Given the description of an element on the screen output the (x, y) to click on. 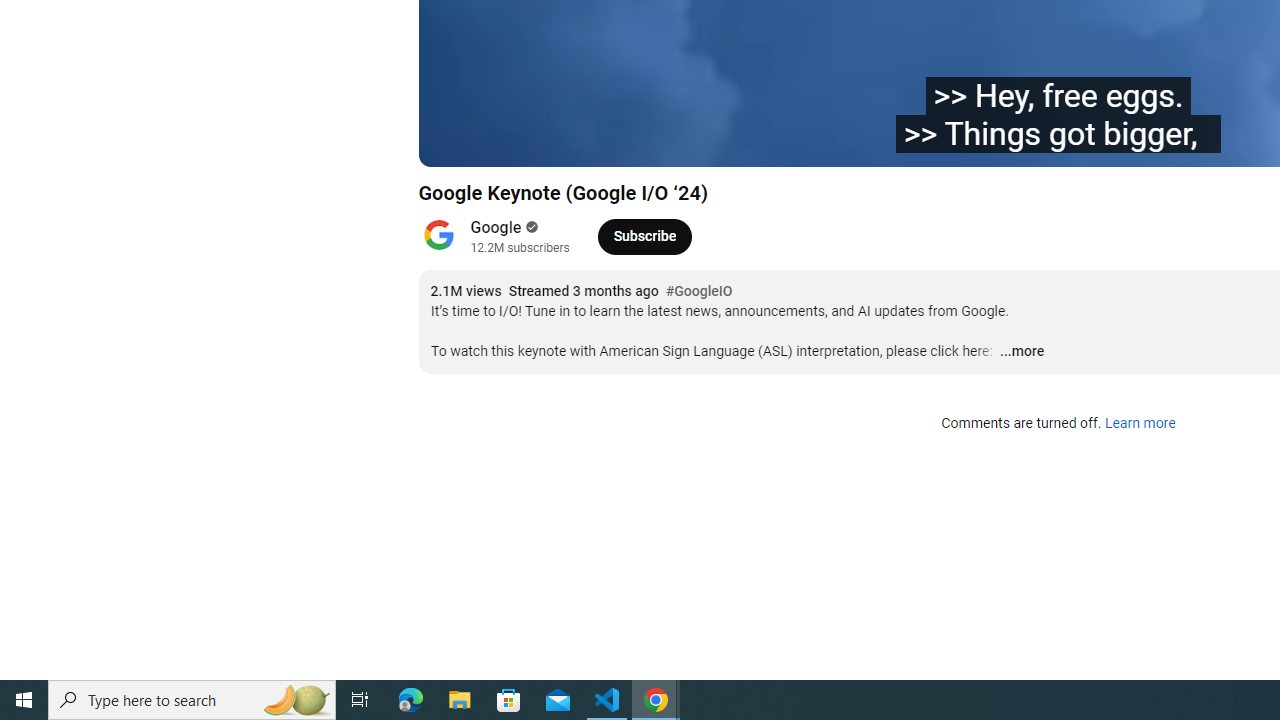
Mute (m) (548, 142)
#GoogleIO (699, 291)
Next (SHIFT+n) (500, 142)
...more (1021, 352)
Pause (k) (453, 142)
Subscribe to Google. (644, 236)
Verified (530, 227)
Learn more (1139, 423)
Opening Film (717, 142)
